Given the description of an element on the screen output the (x, y) to click on. 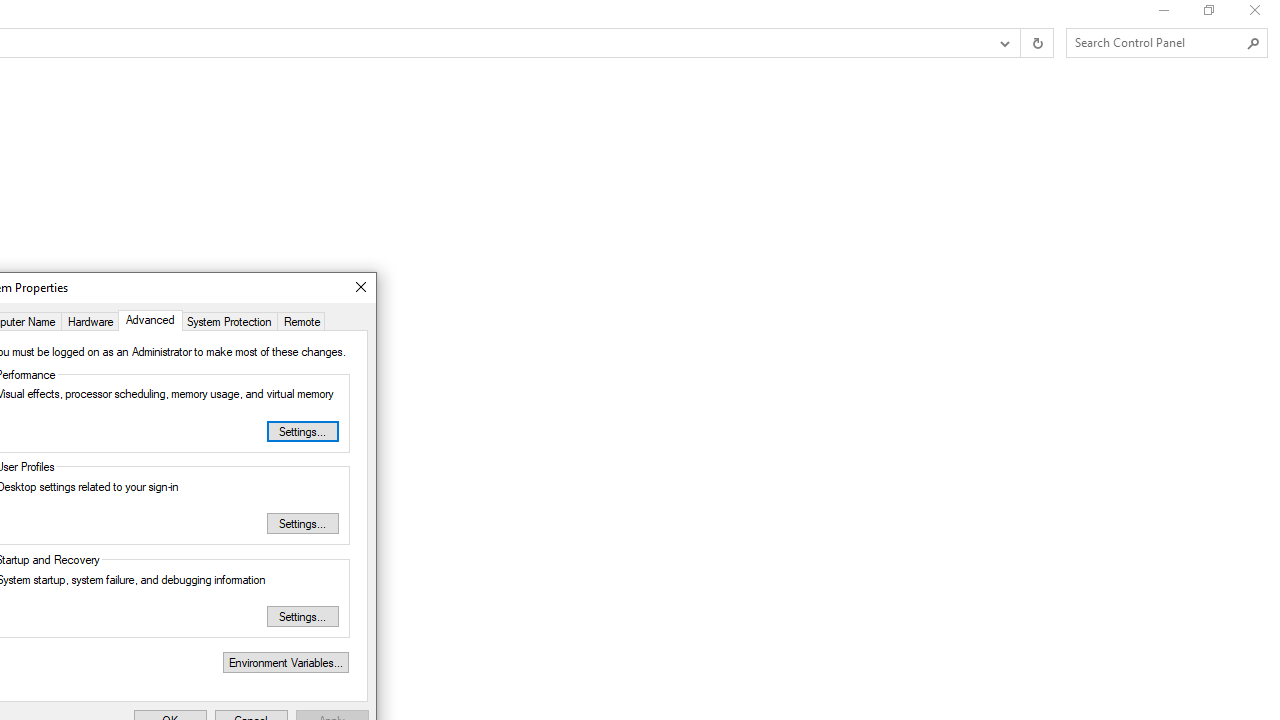
Advanced (150, 320)
Hardware (90, 320)
Settings... (303, 615)
Remote (301, 320)
Environment Variables... (285, 661)
Close (360, 287)
System Protection (228, 320)
